Given the description of an element on the screen output the (x, y) to click on. 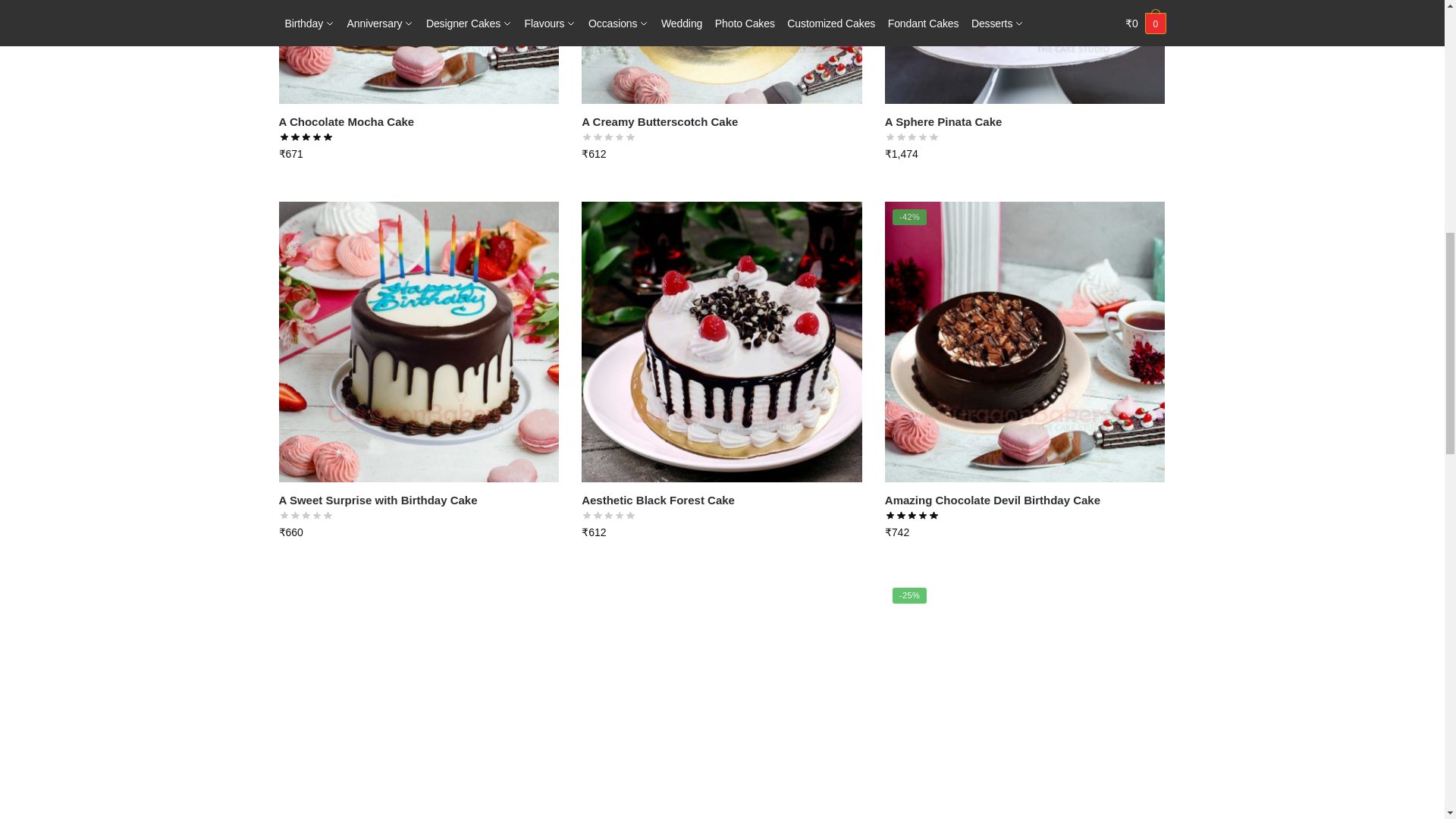
Aromatic Irish Coffee Cake (419, 699)
A Sweet Surprise with Birthday Cake (419, 341)
A Sphere Pinata Cake (1025, 52)
Amazing  Chocolate Devil Birthday Cake (1025, 341)
A Chocolate Mocha Cake (419, 52)
Attractive Butterscotch Reverie (720, 699)
A Creamy Butterscotch Cake (720, 52)
Aesthetic Black Forest Cake (720, 341)
Authentic Fruit Bowl Cake (1025, 699)
